Given the description of an element on the screen output the (x, y) to click on. 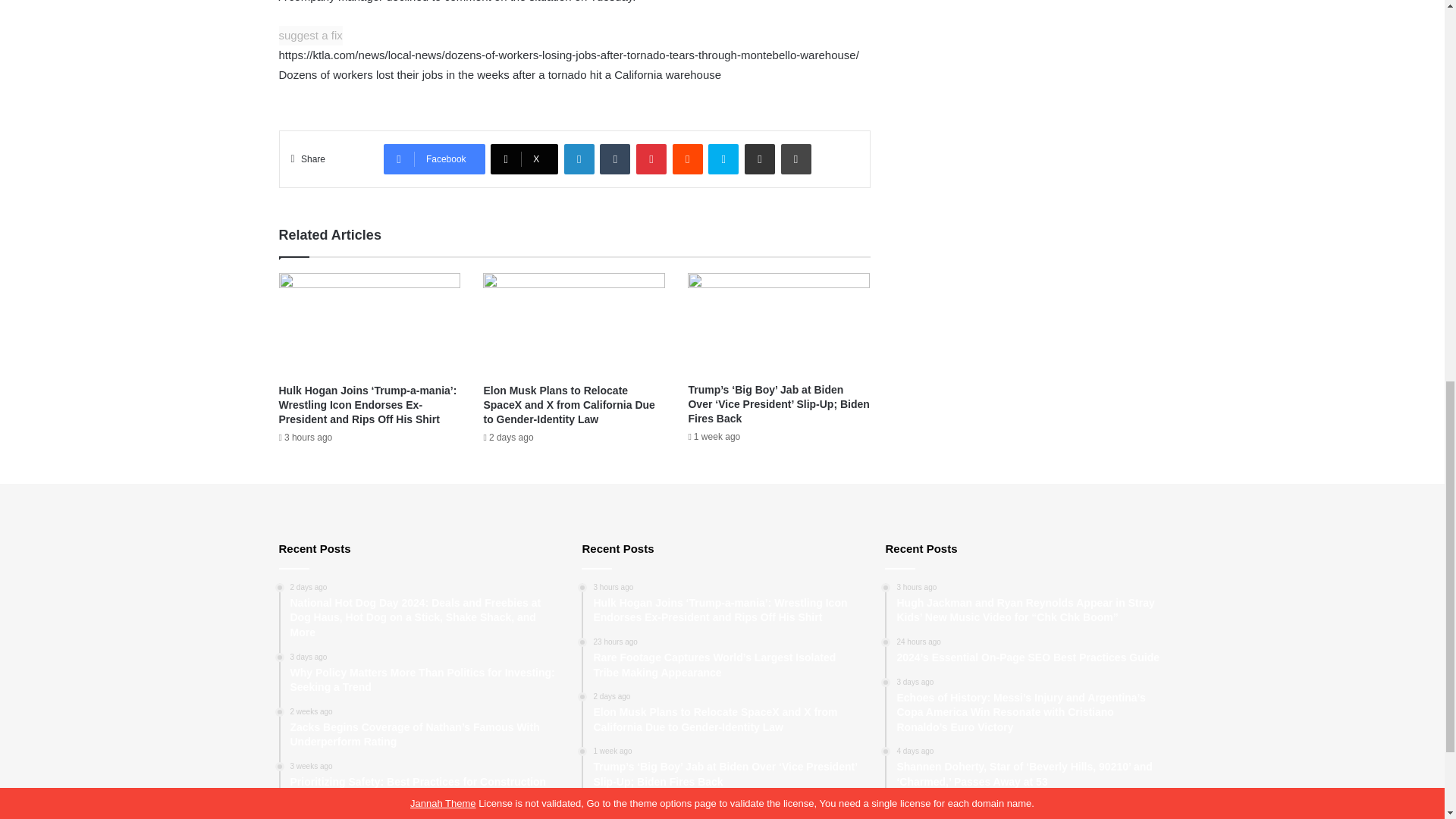
Skype (722, 159)
Facebook (434, 159)
Facebook (434, 159)
Reddit (687, 159)
X (523, 159)
Share via Email (759, 159)
LinkedIn (579, 159)
suggest a fix (310, 35)
Tumblr (614, 159)
Print (795, 159)
Reddit (687, 159)
Tumblr (614, 159)
Pinterest (651, 159)
X (523, 159)
LinkedIn (579, 159)
